Given the description of an element on the screen output the (x, y) to click on. 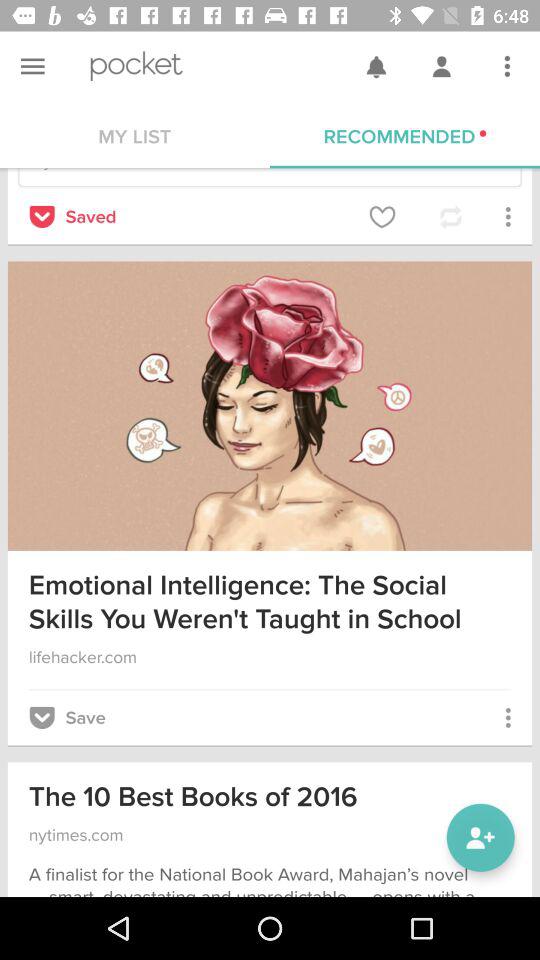
click the icon to the right of the the 10 best (480, 837)
